Given the description of an element on the screen output the (x, y) to click on. 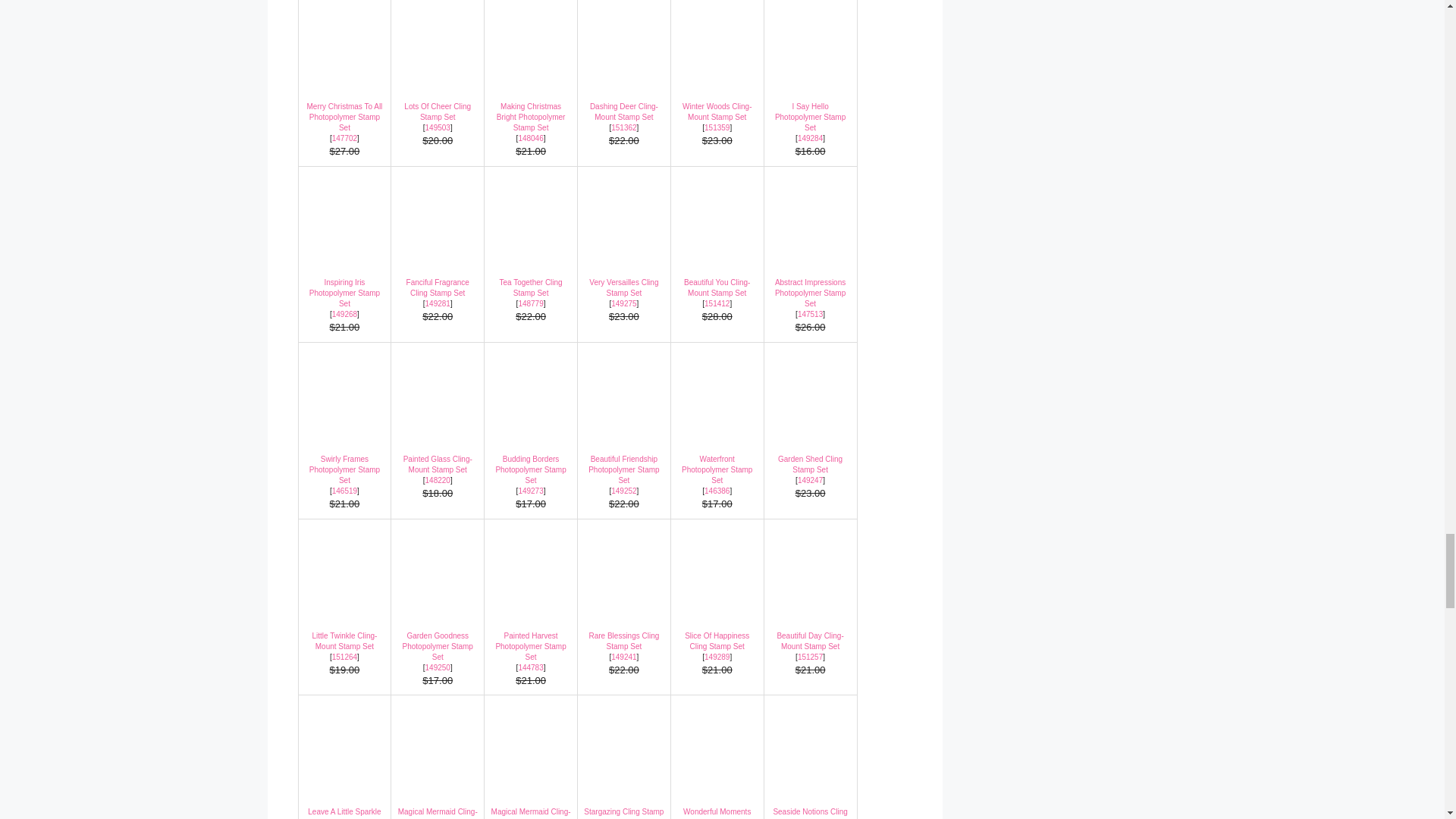
Making Christmas Bright Photopolymer Stamp Set (530, 138)
Lots Of Cheer Cling Stamp Set (437, 38)
Lots Of Cheer Cling Stamp Set (437, 111)
Making Christmas Bright Photopolymer Stamp Set (531, 116)
Making Christmas Bright Photopolymer Stamp Set (530, 72)
Merry Christmas To All Photopolymer Stamp Set (343, 138)
Making Christmas Bright Photopolymer Stamp Set (530, 38)
Merry Christmas To All Photopolymer Stamp Set (344, 72)
Lots Of Cheer Cling Stamp Set (437, 72)
Merry Christmas To All Photopolymer Stamp Set (344, 38)
